Given the description of an element on the screen output the (x, y) to click on. 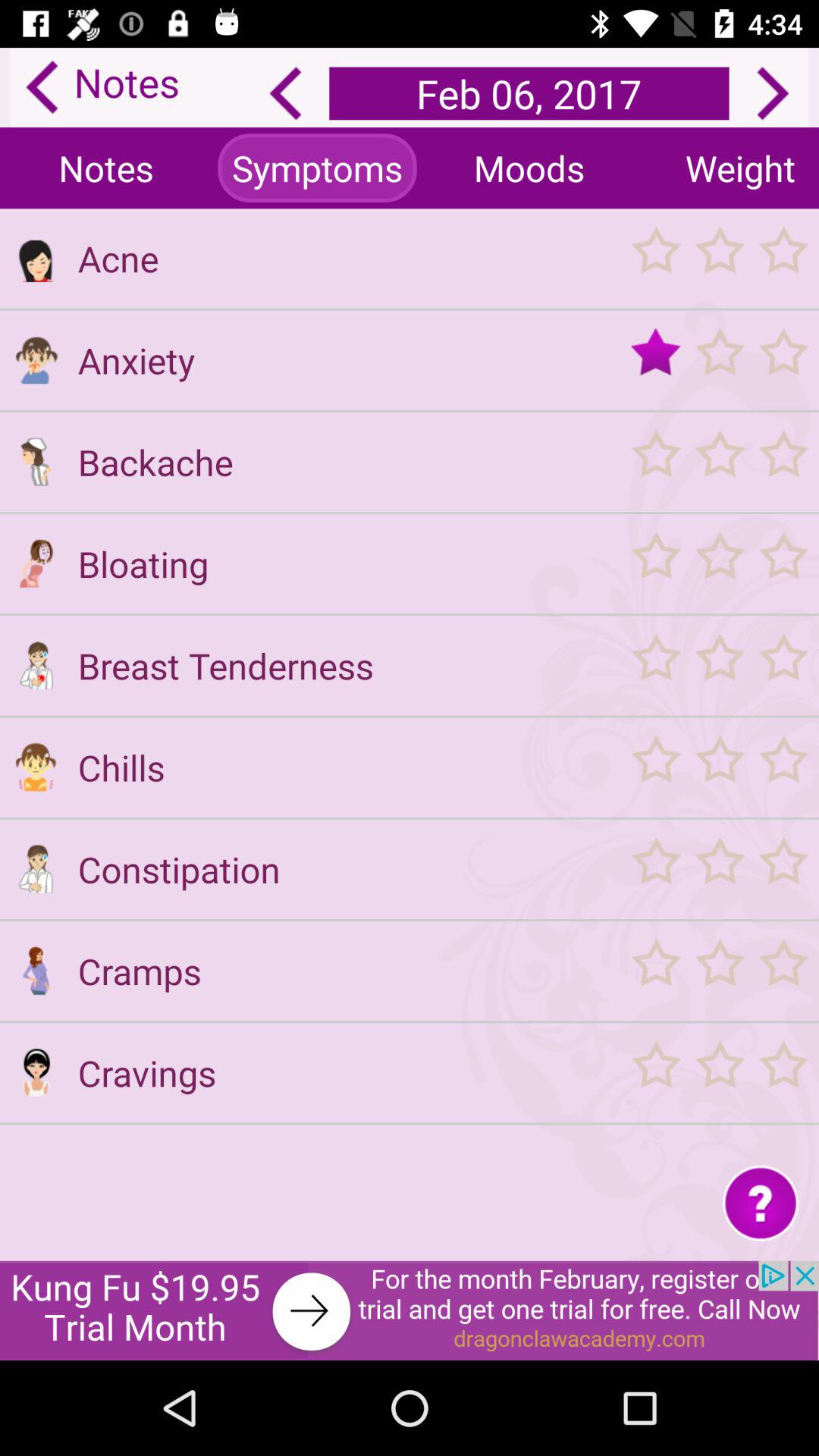
go to star rating (719, 868)
